Given the description of an element on the screen output the (x, y) to click on. 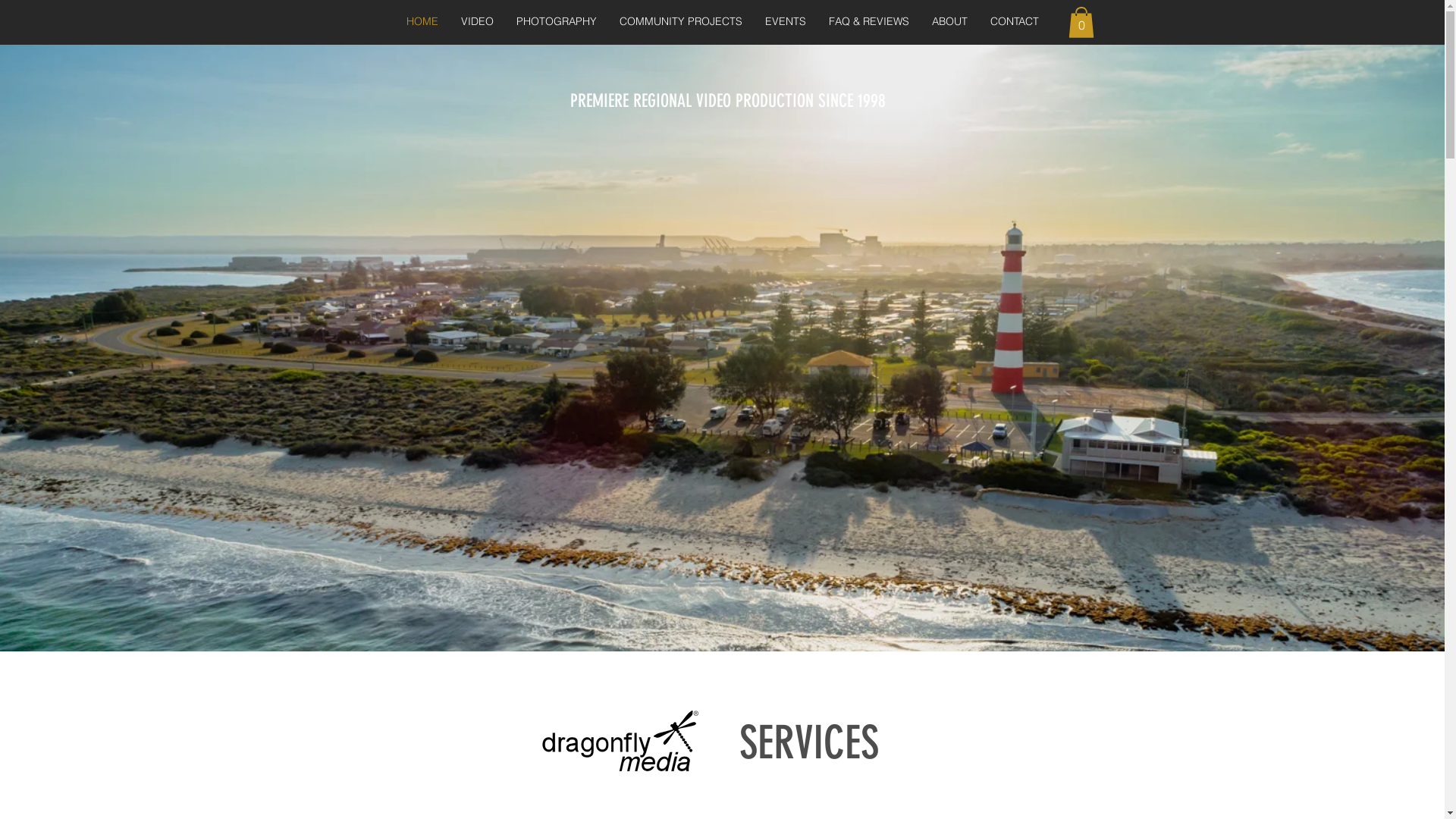
VIDEO Element type: text (477, 21)
CONTACT Element type: text (1014, 21)
COMMUNITY PROJECTS Element type: text (680, 21)
EVENTS Element type: text (785, 21)
PHOTOGRAPHY Element type: text (556, 21)
0 Element type: text (1080, 21)
HOME Element type: text (422, 21)
FAQ & REVIEWS Element type: text (868, 21)
ABOUT Element type: text (949, 21)
SERVICES Element type: text (808, 742)
PREMIERE REGIONAL VIDEO PRODUCTION SINCE 1998 Element type: text (727, 100)
